Given the description of an element on the screen output the (x, y) to click on. 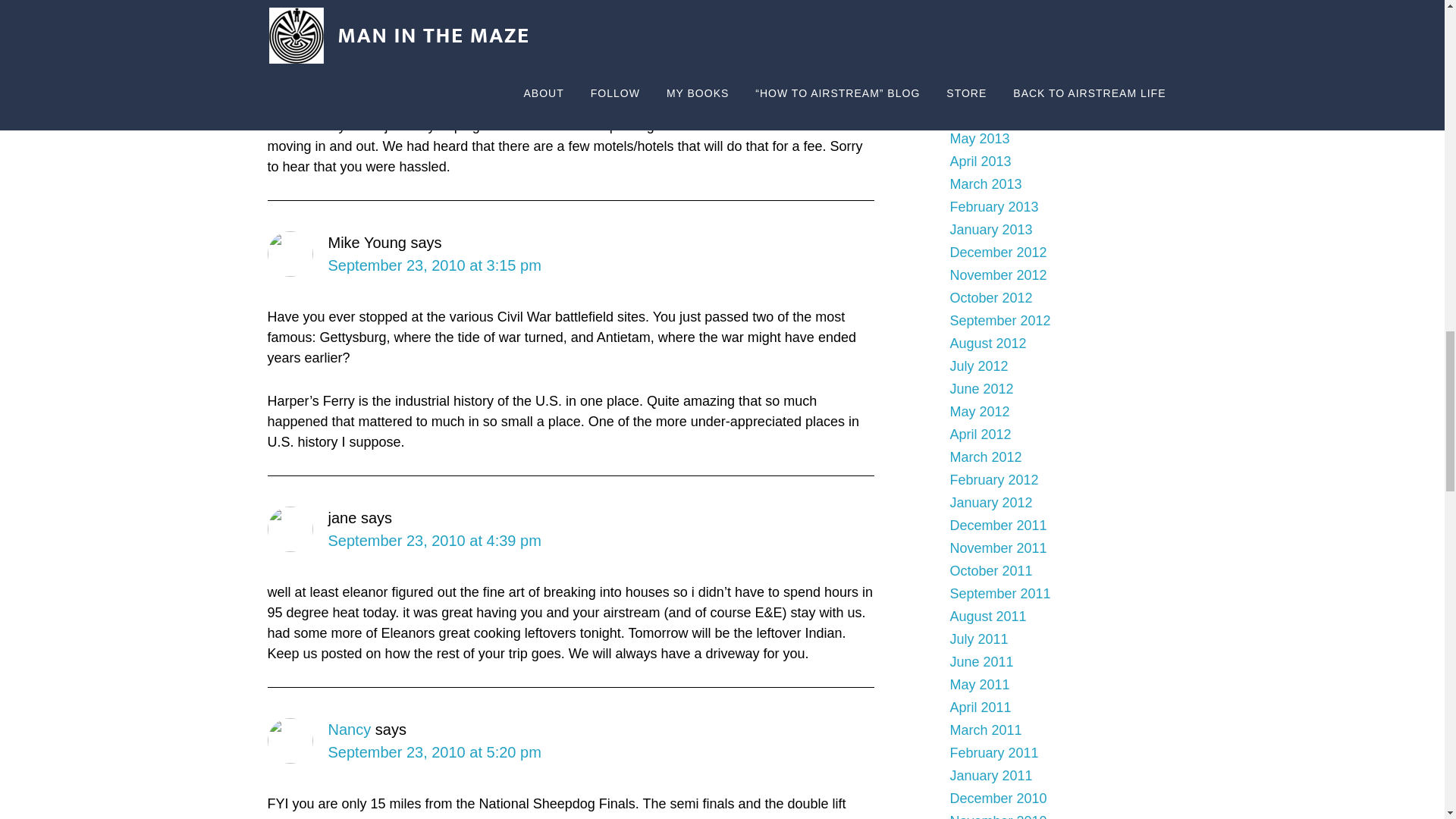
September 23, 2010 at 3:01 pm (433, 74)
September 23, 2010 at 3:15 pm (433, 265)
September 23, 2010 at 5:20 pm (433, 751)
Nancy (349, 729)
September 23, 2010 at 4:39 pm (433, 540)
